Given the description of an element on the screen output the (x, y) to click on. 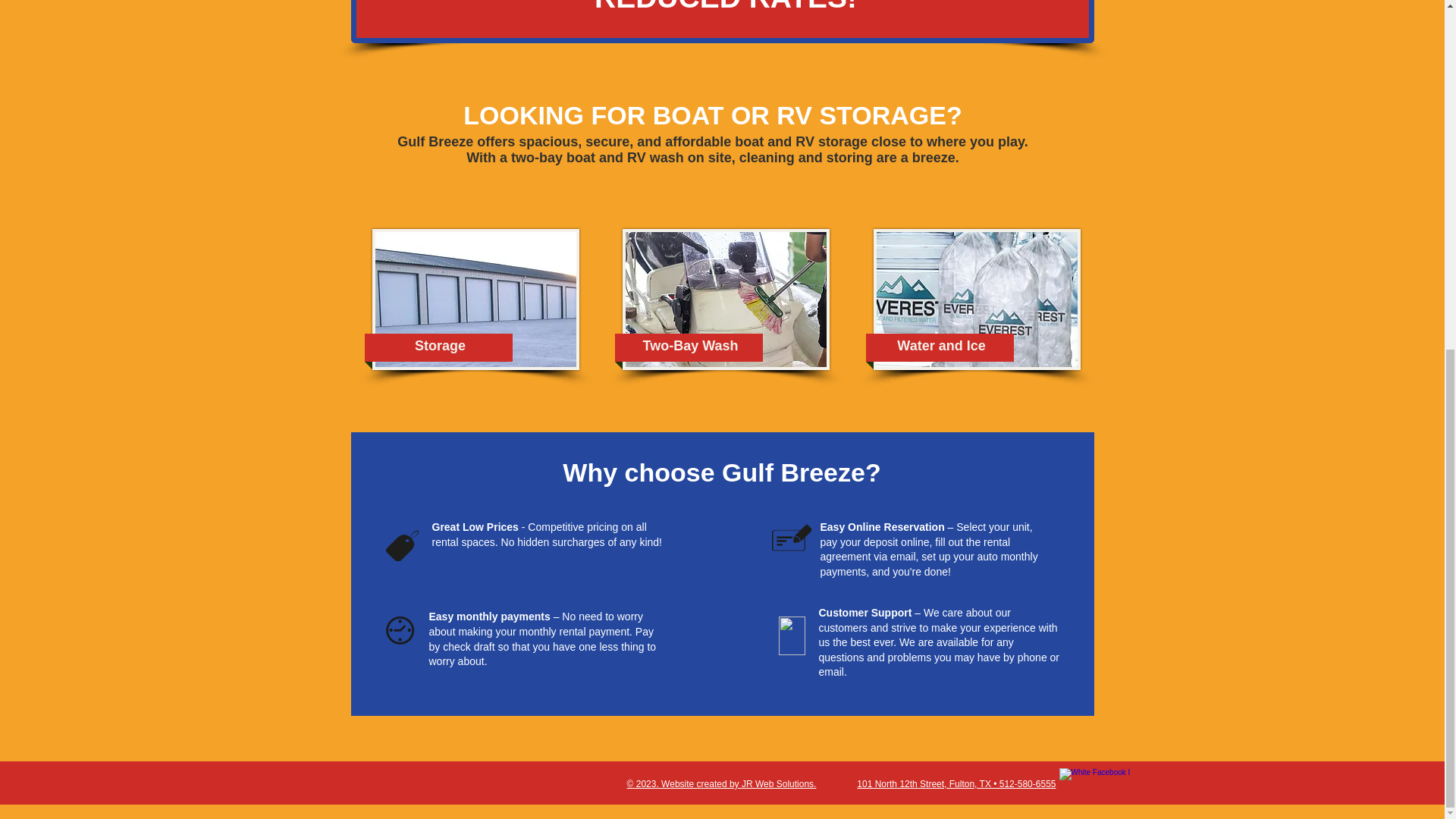
REDUCED RATES! (725, 6)
Water and Ice (941, 346)
Two-Bay Wash (689, 346)
Storage (440, 346)
